Given the description of an element on the screen output the (x, y) to click on. 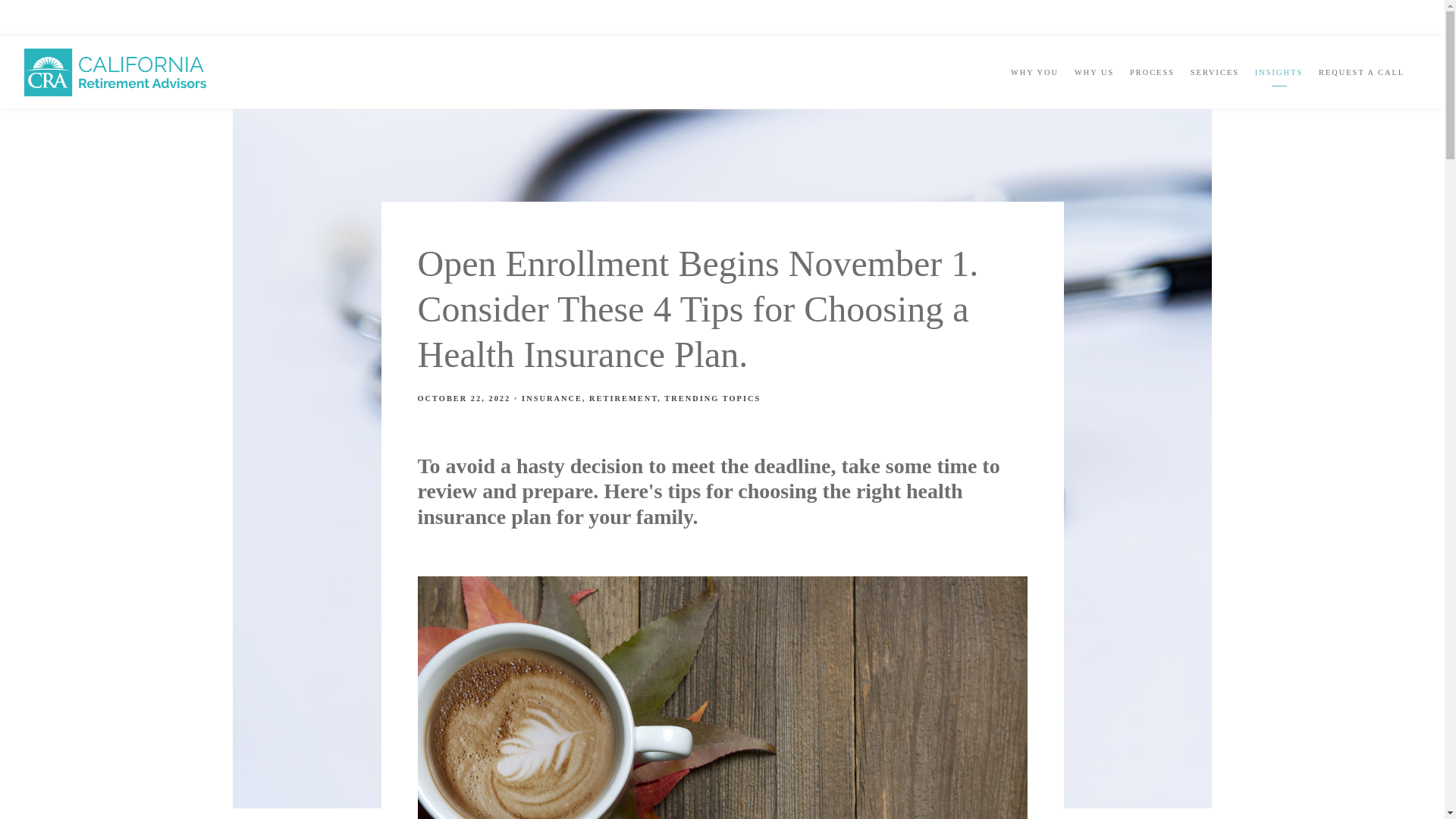
RETIREMENT (623, 397)
WHY US (1093, 72)
INSIGHTS (1279, 72)
PROCESS (1151, 72)
TRENDING TOPICS (711, 397)
WHY YOU (1034, 72)
SERVICES (1215, 72)
REQUEST A CALL (1362, 72)
INSURANCE (551, 397)
